Given the description of an element on the screen output the (x, y) to click on. 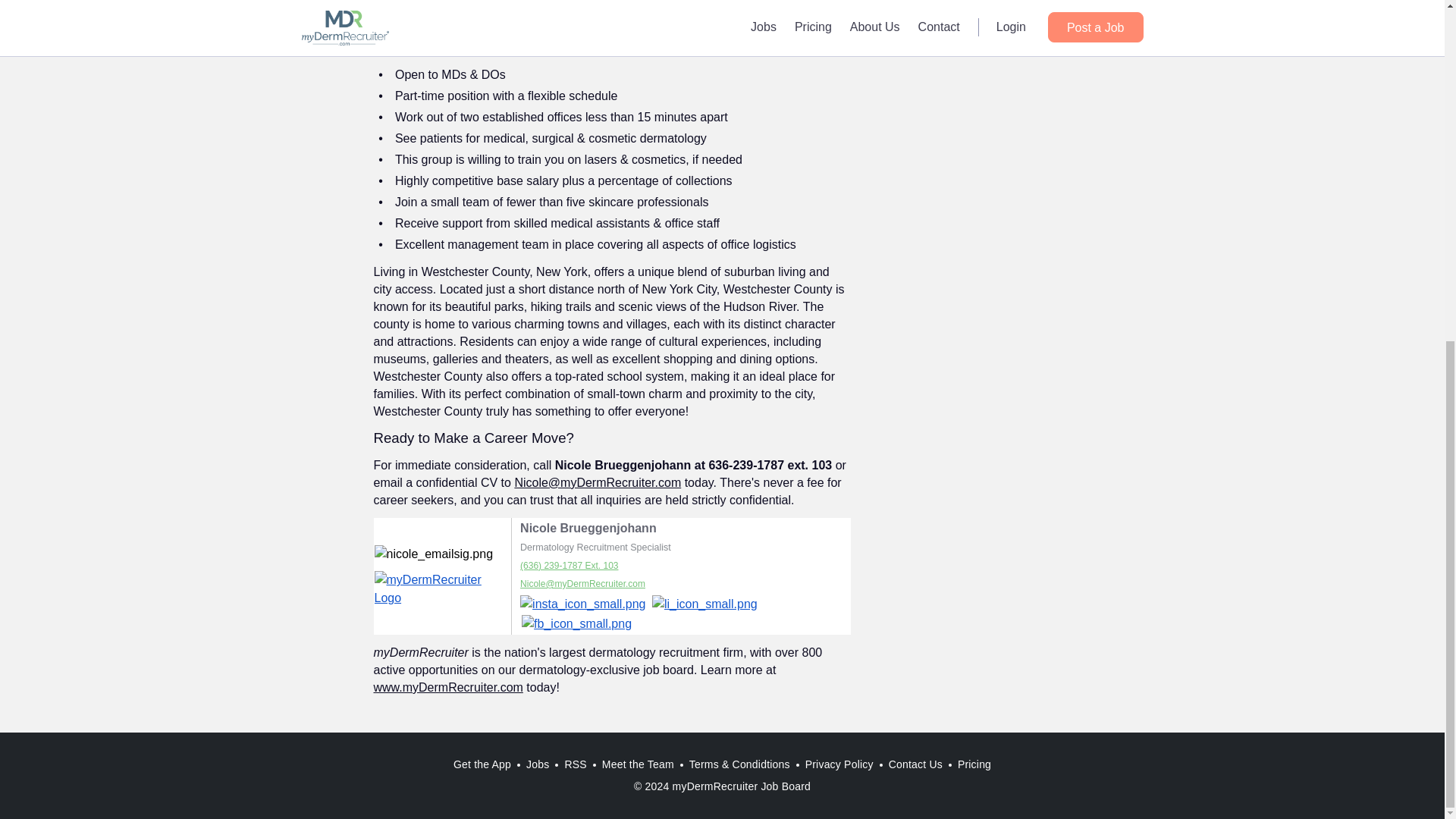
Privacy Policy (838, 764)
Jobs (537, 764)
Contact Us (915, 764)
Get the App (481, 764)
RSS (575, 764)
www.myDermRecruiter.com (447, 686)
Meet the Team (637, 764)
